Given the description of an element on the screen output the (x, y) to click on. 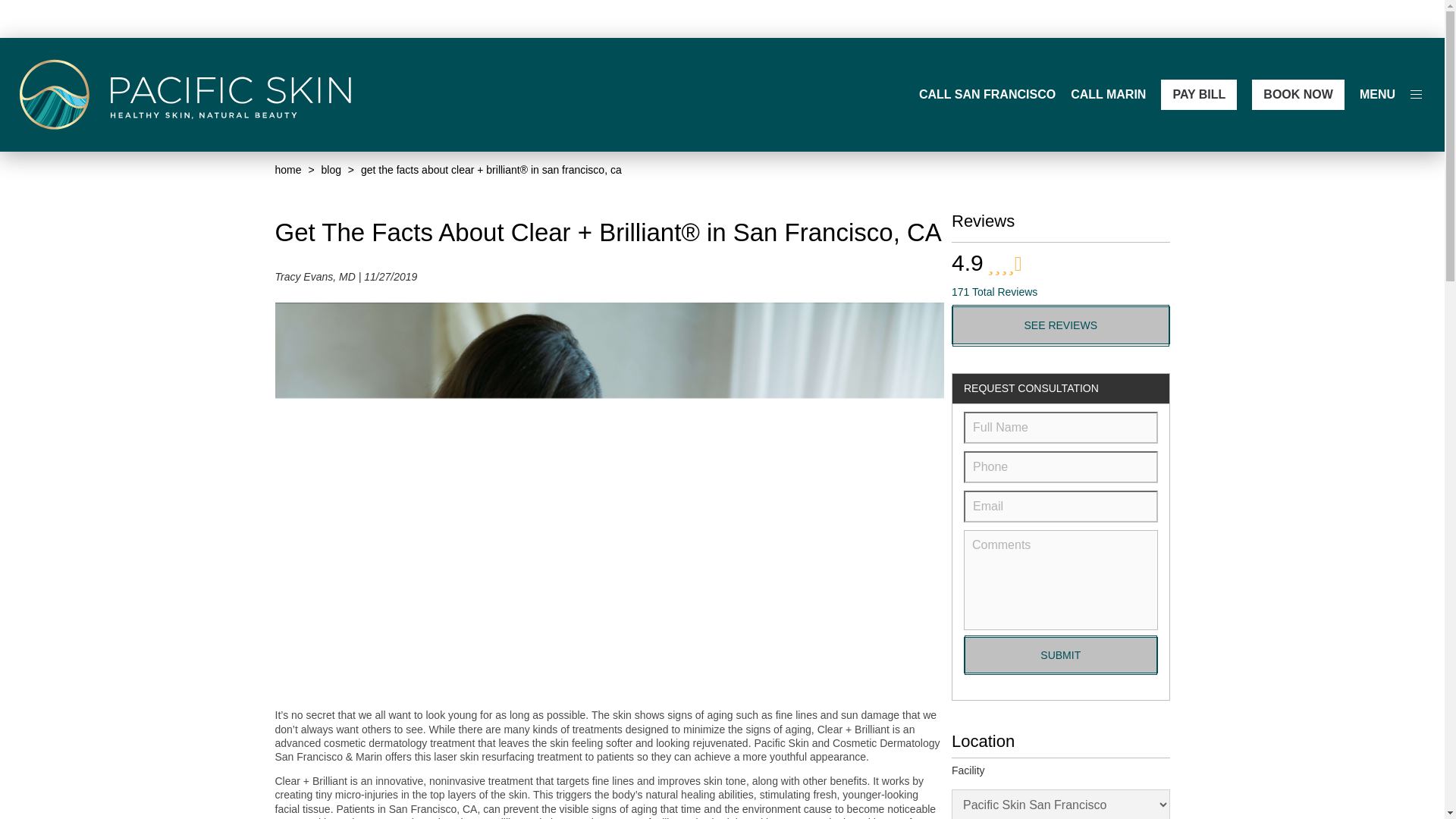
CALL MARIN (1107, 94)
CALL SAN FRANCISCO (986, 94)
PAY BILL (1198, 94)
BOOK NOW (1297, 94)
MENU (1376, 94)
